Given the description of an element on the screen output the (x, y) to click on. 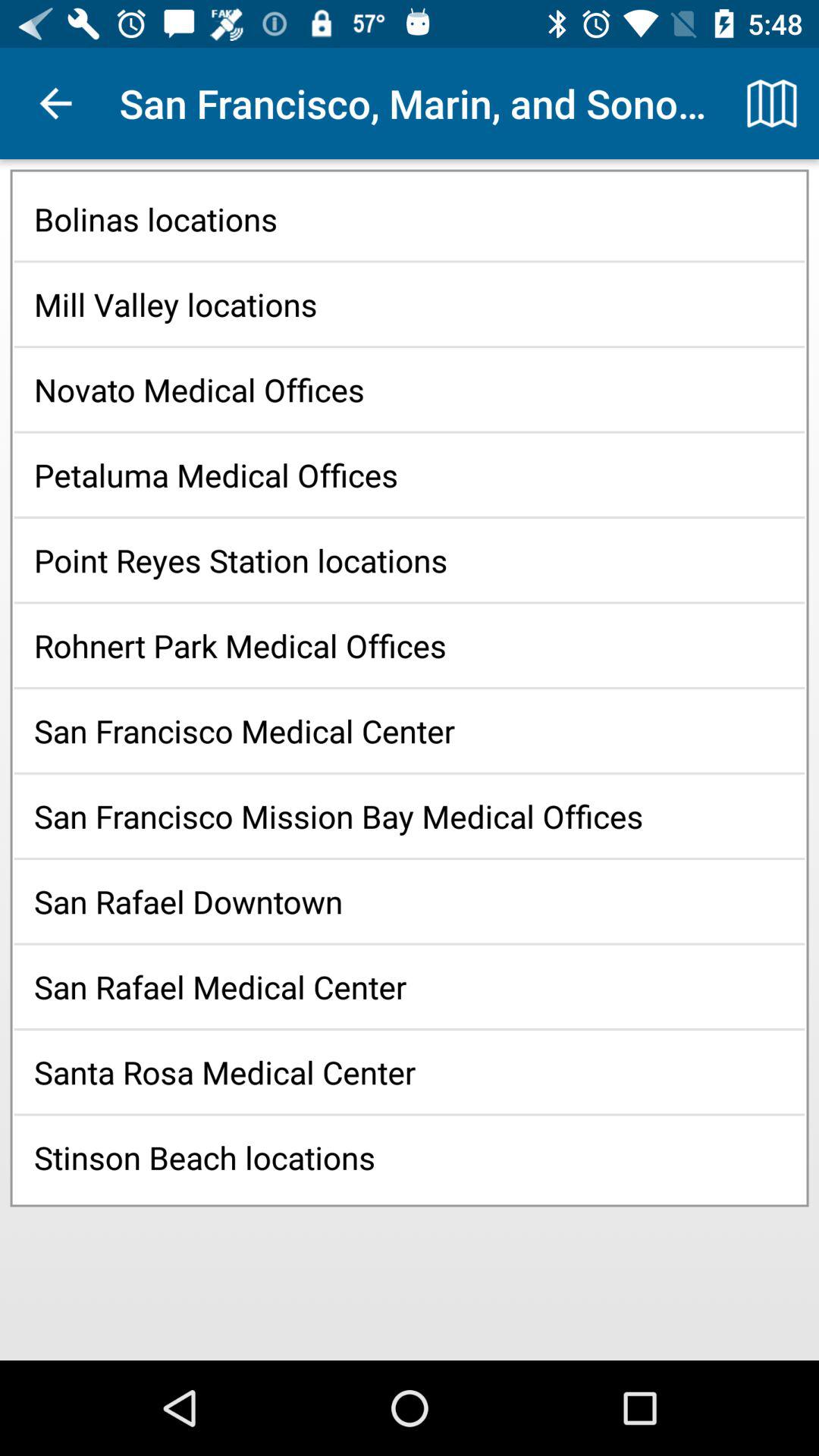
tap the item below the point reyes station (409, 645)
